Given the description of an element on the screen output the (x, y) to click on. 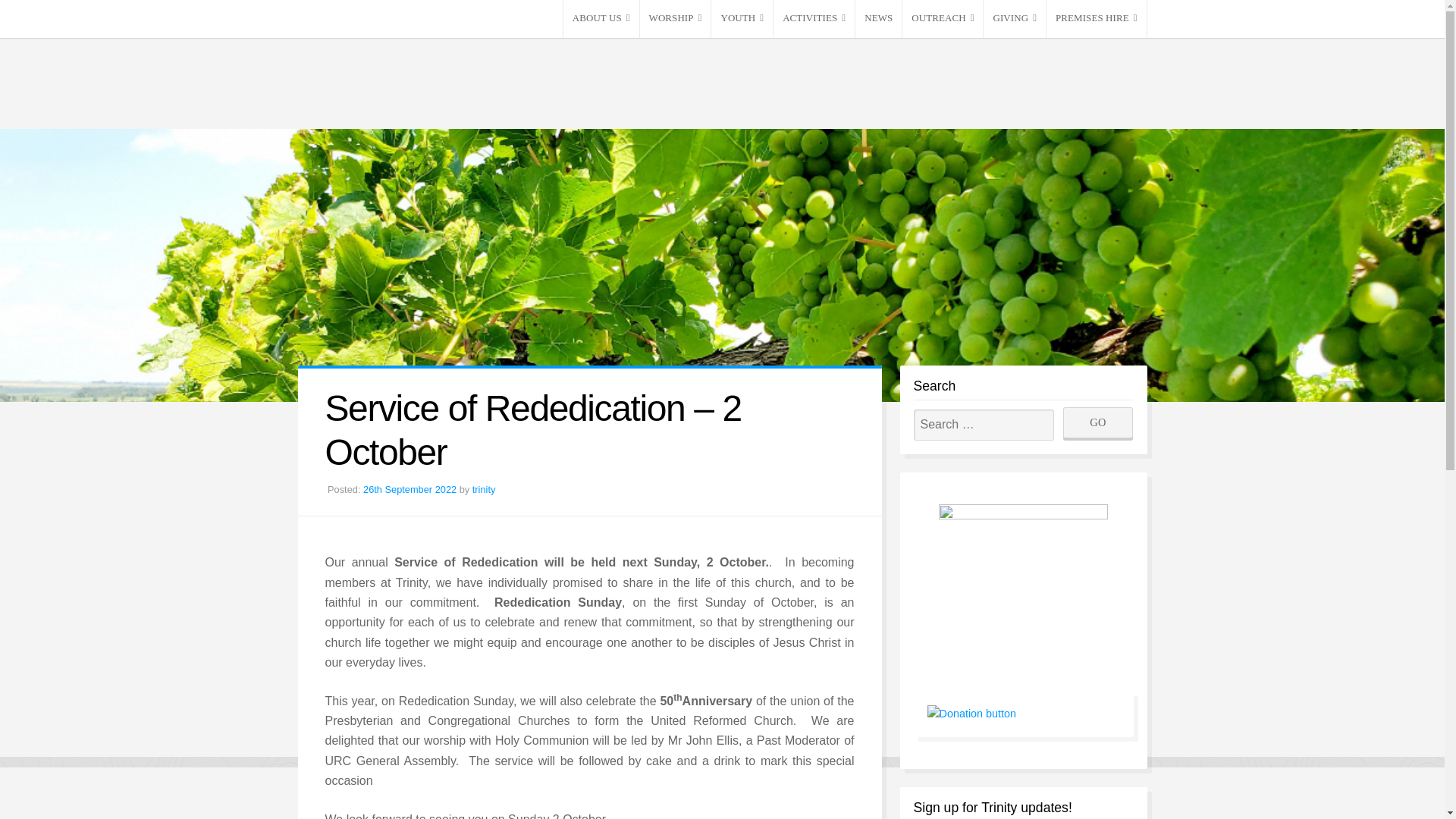
View all posts by trinity (483, 489)
Go (1098, 422)
WORSHIP (675, 18)
ABOUT US (601, 18)
Make a donation - opens in new window (971, 713)
12:25 am (409, 489)
